Given the description of an element on the screen output the (x, y) to click on. 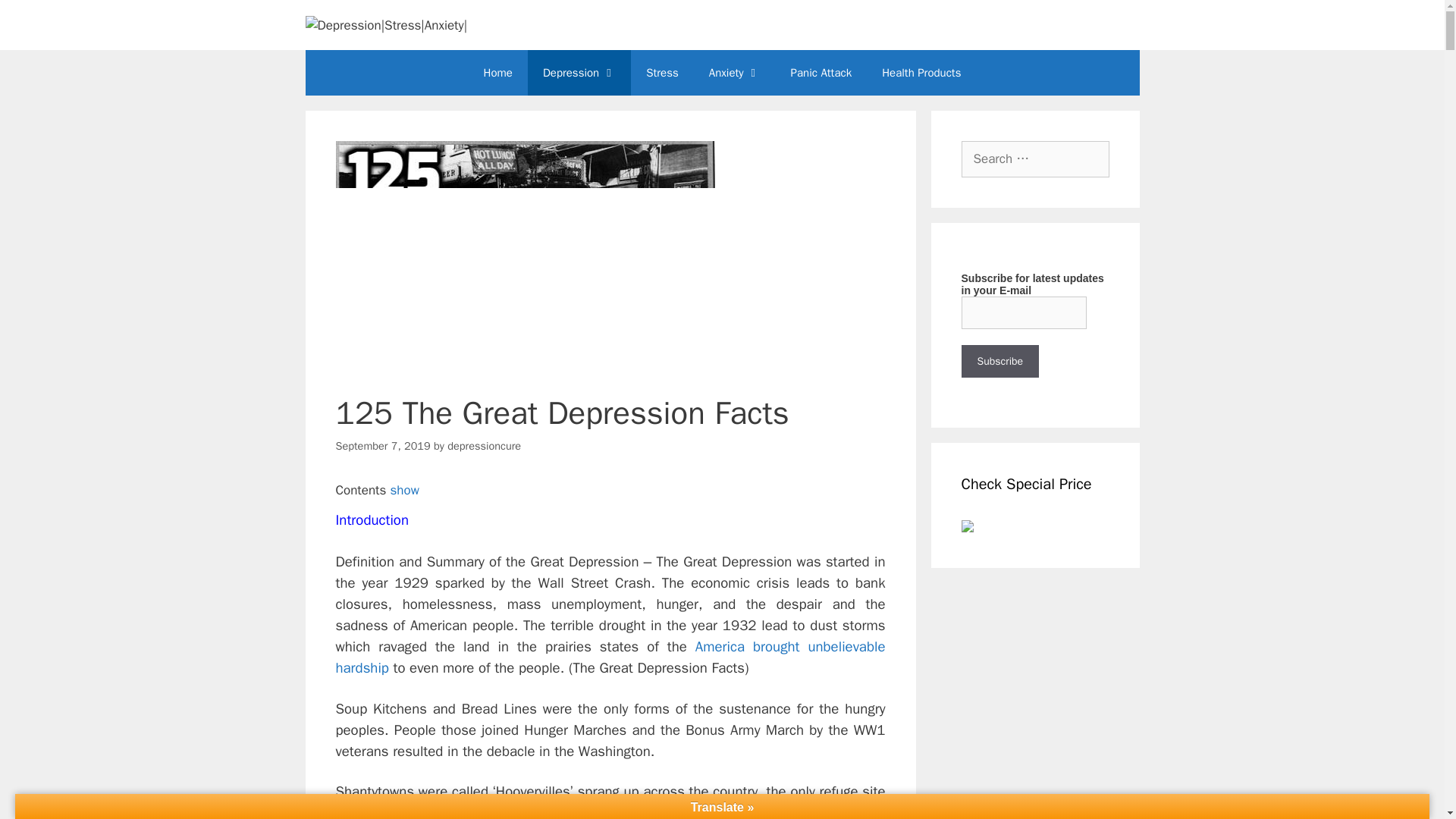
View all posts by depressioncure (483, 445)
America brought unbelievable hardship (609, 657)
Depression (578, 72)
Subscribe (999, 360)
show (404, 489)
Stress (662, 72)
Health Products (920, 72)
depressioncure (483, 445)
Search for: (1034, 158)
Panic Attack (821, 72)
Anxiety (735, 72)
Home (497, 72)
